Given the description of an element on the screen output the (x, y) to click on. 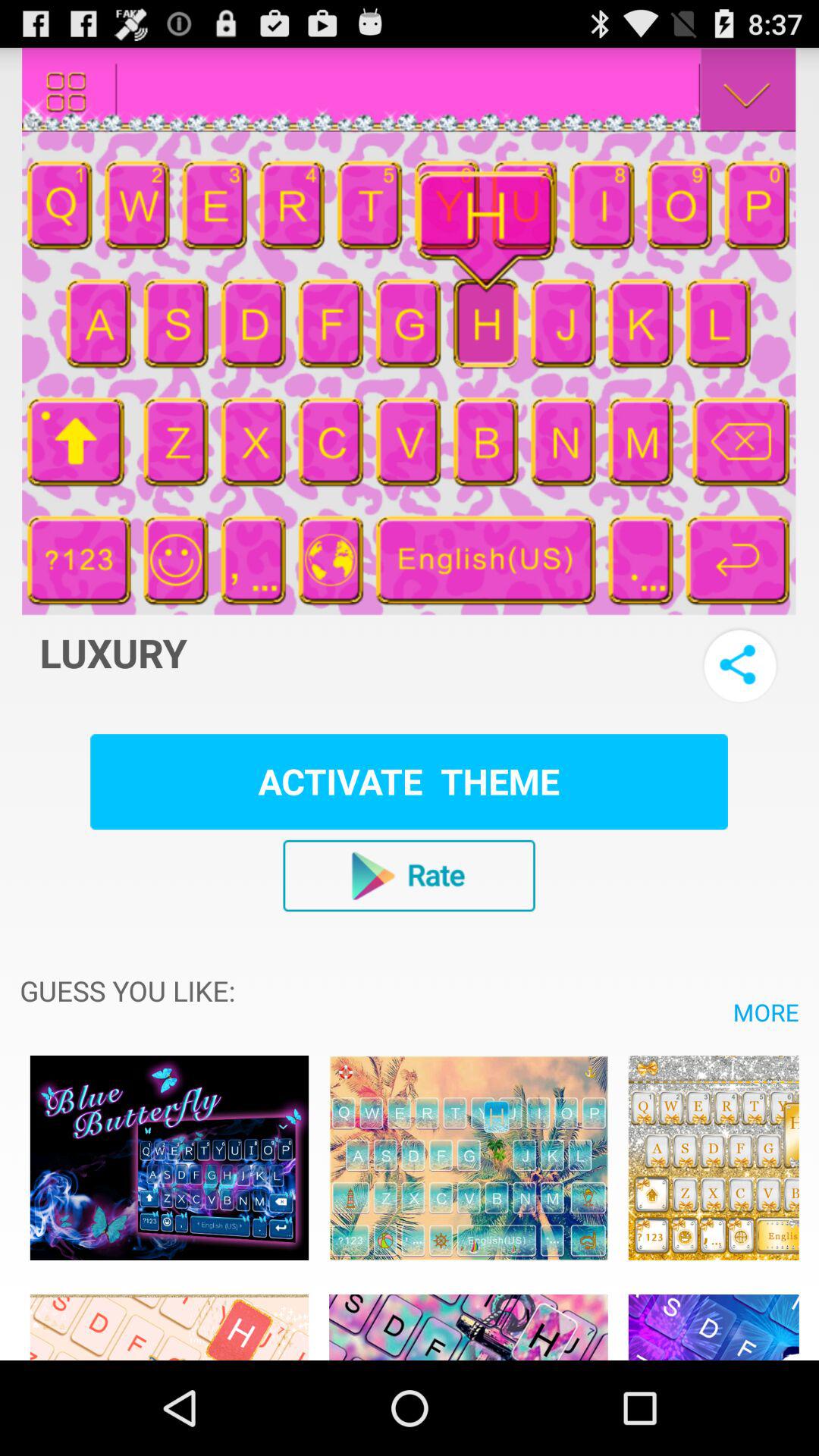
select theme choice (169, 1318)
